Given the description of an element on the screen output the (x, y) to click on. 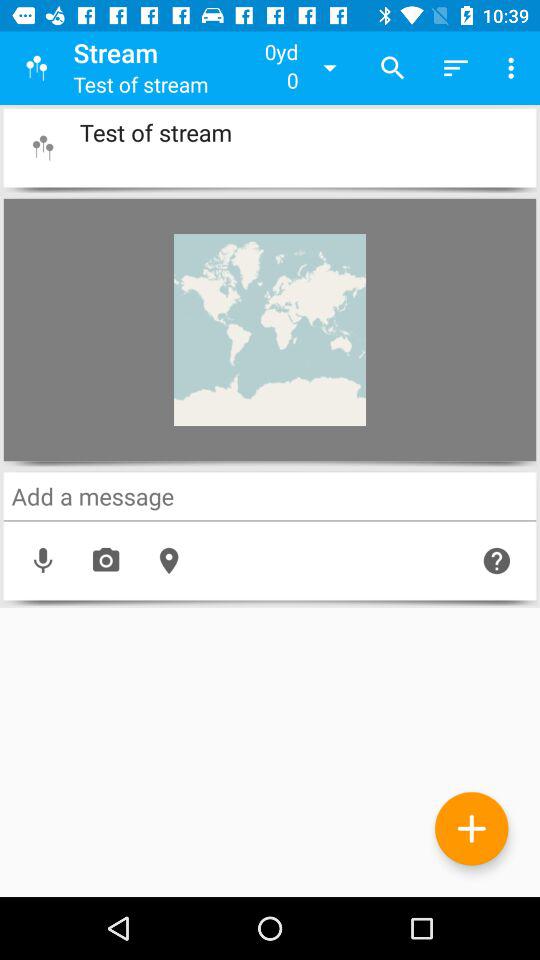
add a message (269, 496)
